Given the description of an element on the screen output the (x, y) to click on. 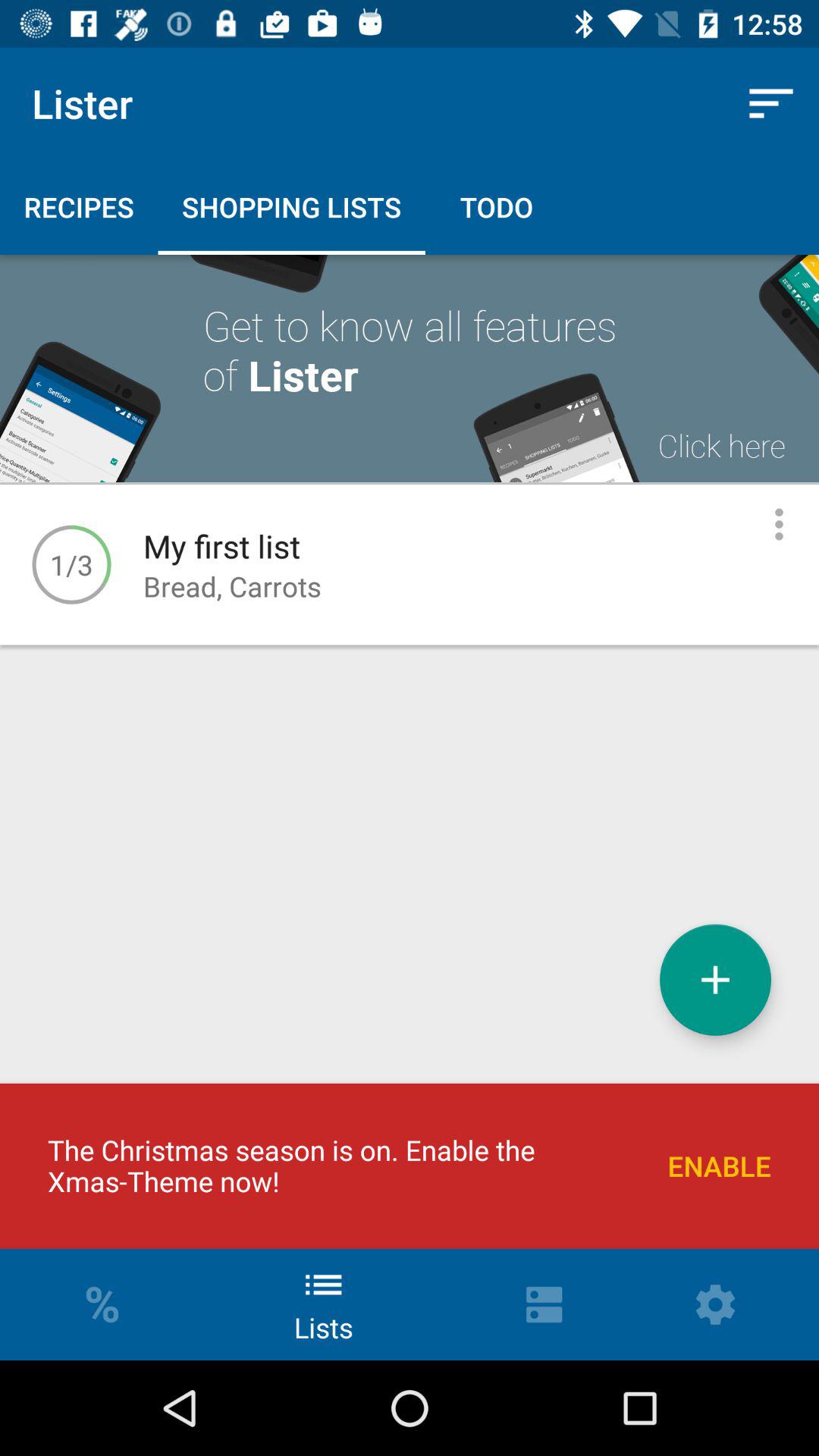
press the item above the enable item (715, 979)
